Given the description of an element on the screen output the (x, y) to click on. 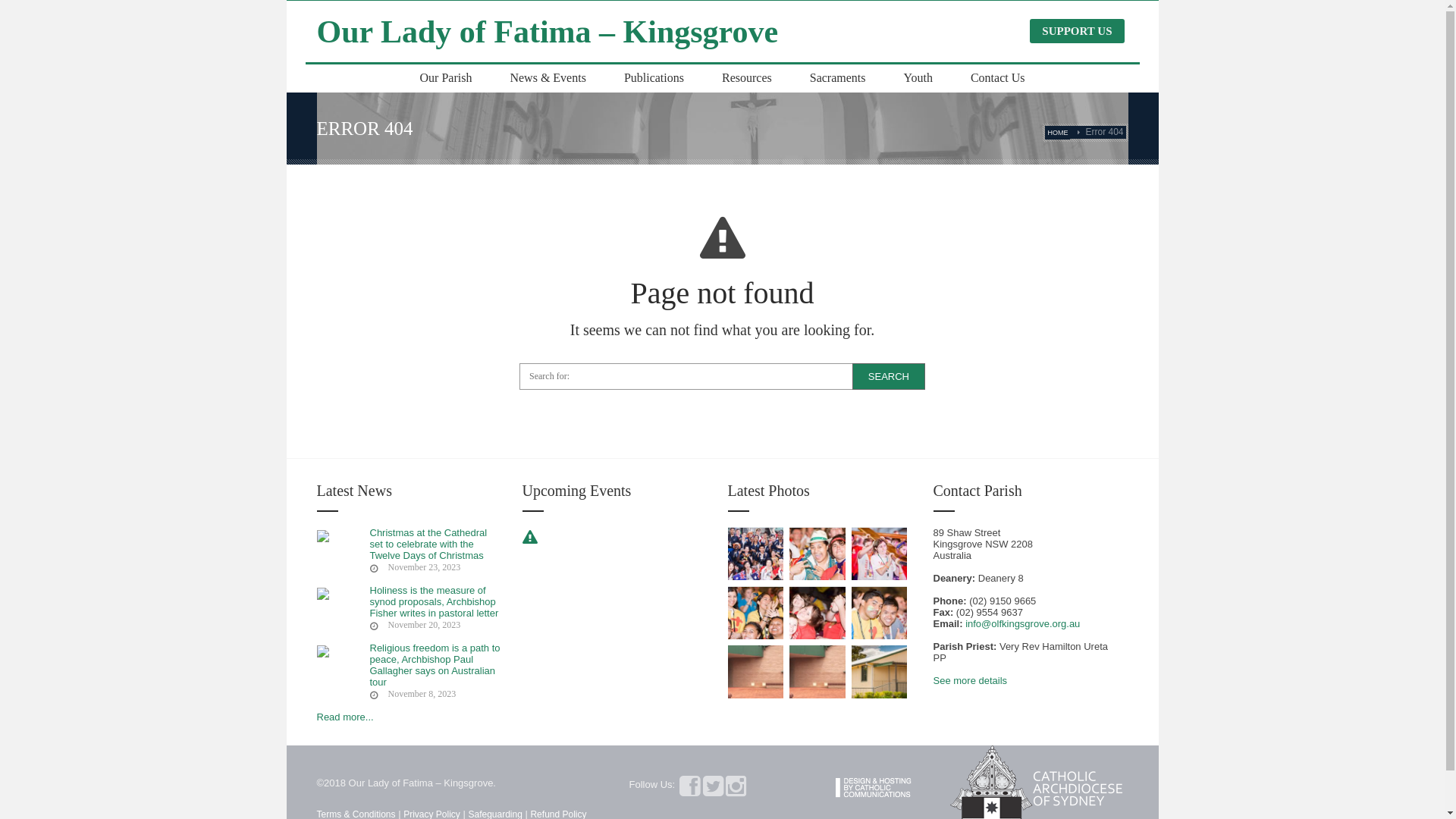
Catholic Communications - Sydney Archdiocese Element type: hover (892, 784)
Publications Element type: text (654, 77)
Catholic Archdiocese of Sydney  Element type: hover (1038, 784)
Facebook Element type: hover (689, 790)
Resources Element type: text (746, 77)
See more details Element type: text (969, 680)
Youth Element type: text (917, 77)
Read more... Element type: text (344, 716)
Sacraments Element type: text (837, 77)
News & Events Element type: text (547, 77)
Twitter Element type: hover (712, 790)
Our Parish Element type: text (446, 77)
Search Element type: text (888, 376)
Contact Us Element type: text (997, 77)
info@olfkingsgrove.org.au Element type: text (1022, 623)
HOME Element type: text (1057, 132)
Instagram Element type: hover (735, 790)
SUPPORT US Element type: text (1076, 30)
